Given the description of an element on the screen output the (x, y) to click on. 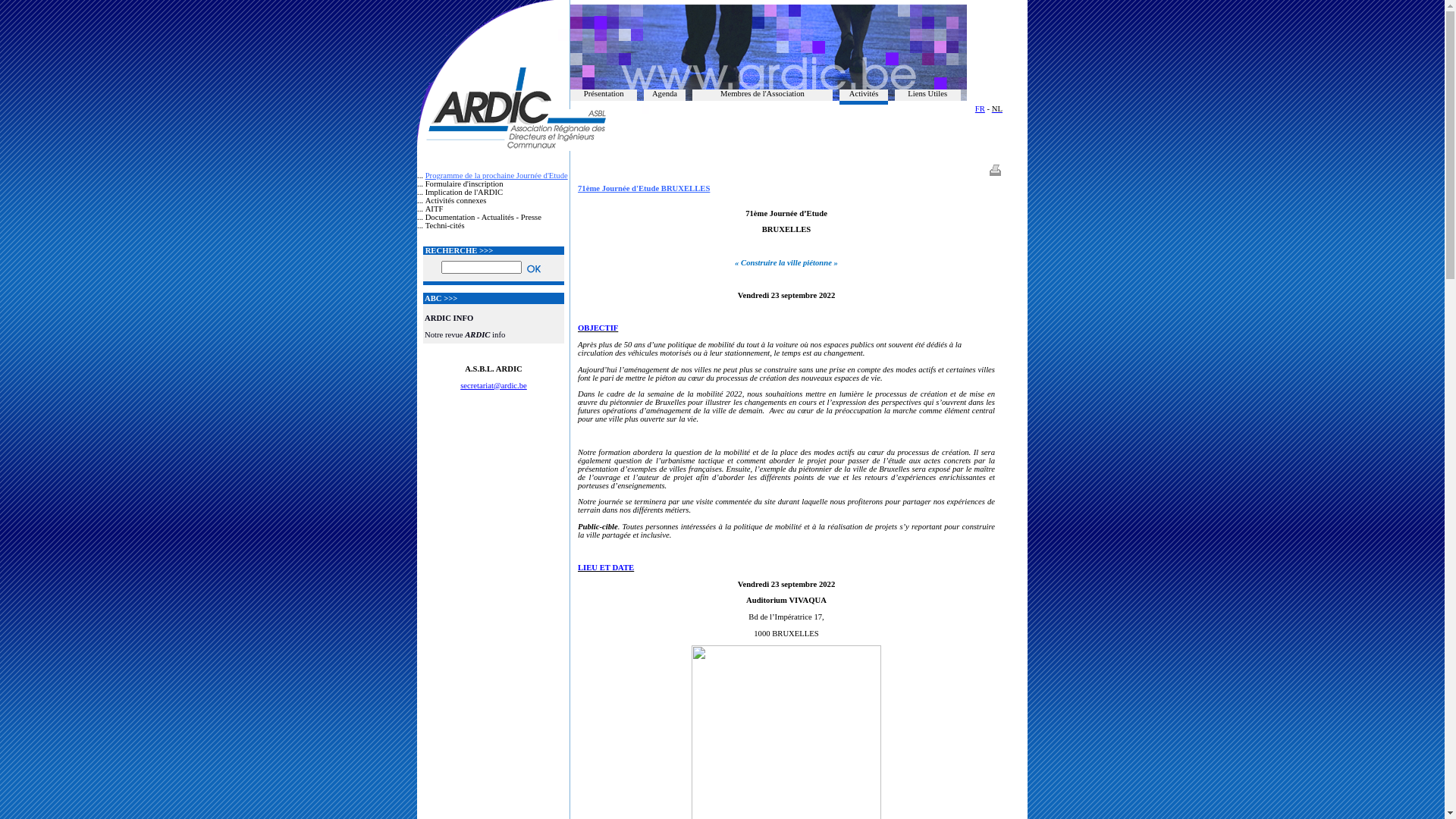
NL Element type: text (996, 108)
Liens Utiles Element type: text (927, 93)
Formulaire d'inscription Element type: text (464, 183)
Membres de l'Association Element type: text (762, 93)
Agenda Element type: text (664, 93)
Implication de l'ARDIC Element type: text (464, 192)
FR Element type: text (980, 108)
AITF Element type: text (434, 208)
secretariat@ardic.be Element type: text (493, 385)
